Given the description of an element on the screen output the (x, y) to click on. 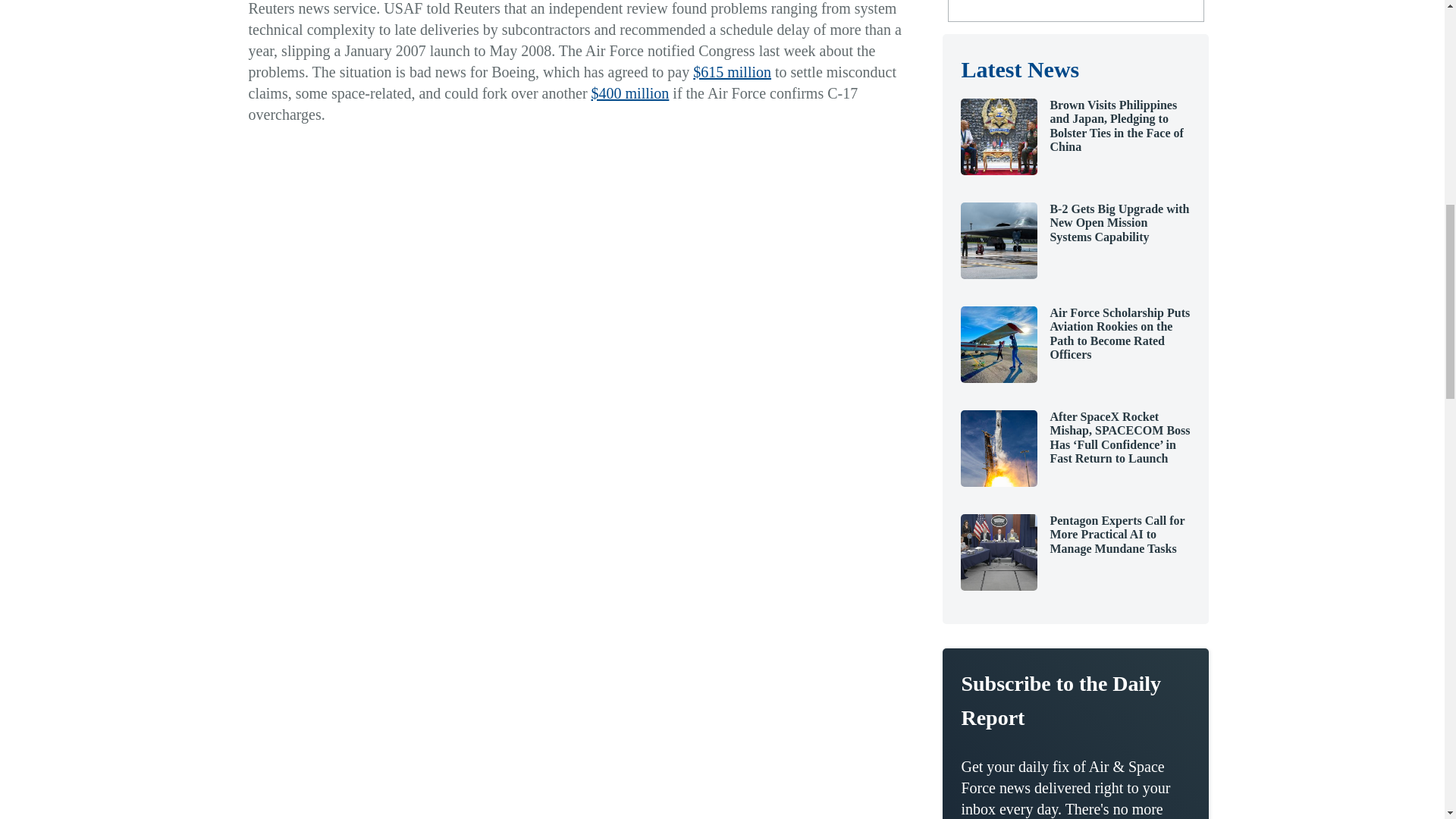
3rd party ad content (1075, 7)
